Given the description of an element on the screen output the (x, y) to click on. 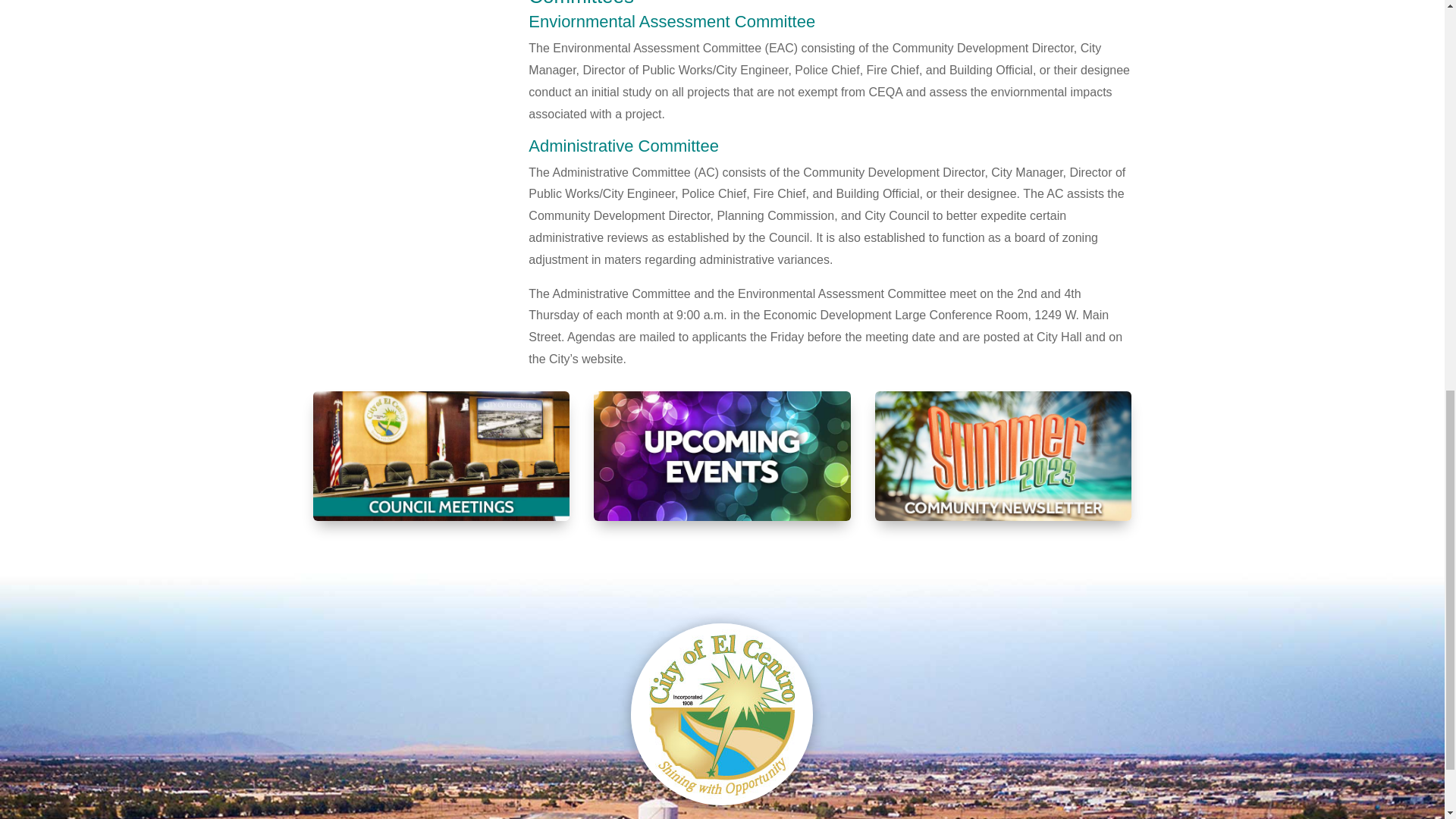
footer Logo (721, 714)
upcomingEventsBanner (722, 455)
banner1 (441, 455)
Community Newsletter Summer 2023 (1003, 455)
